Given the description of an element on the screen output the (x, y) to click on. 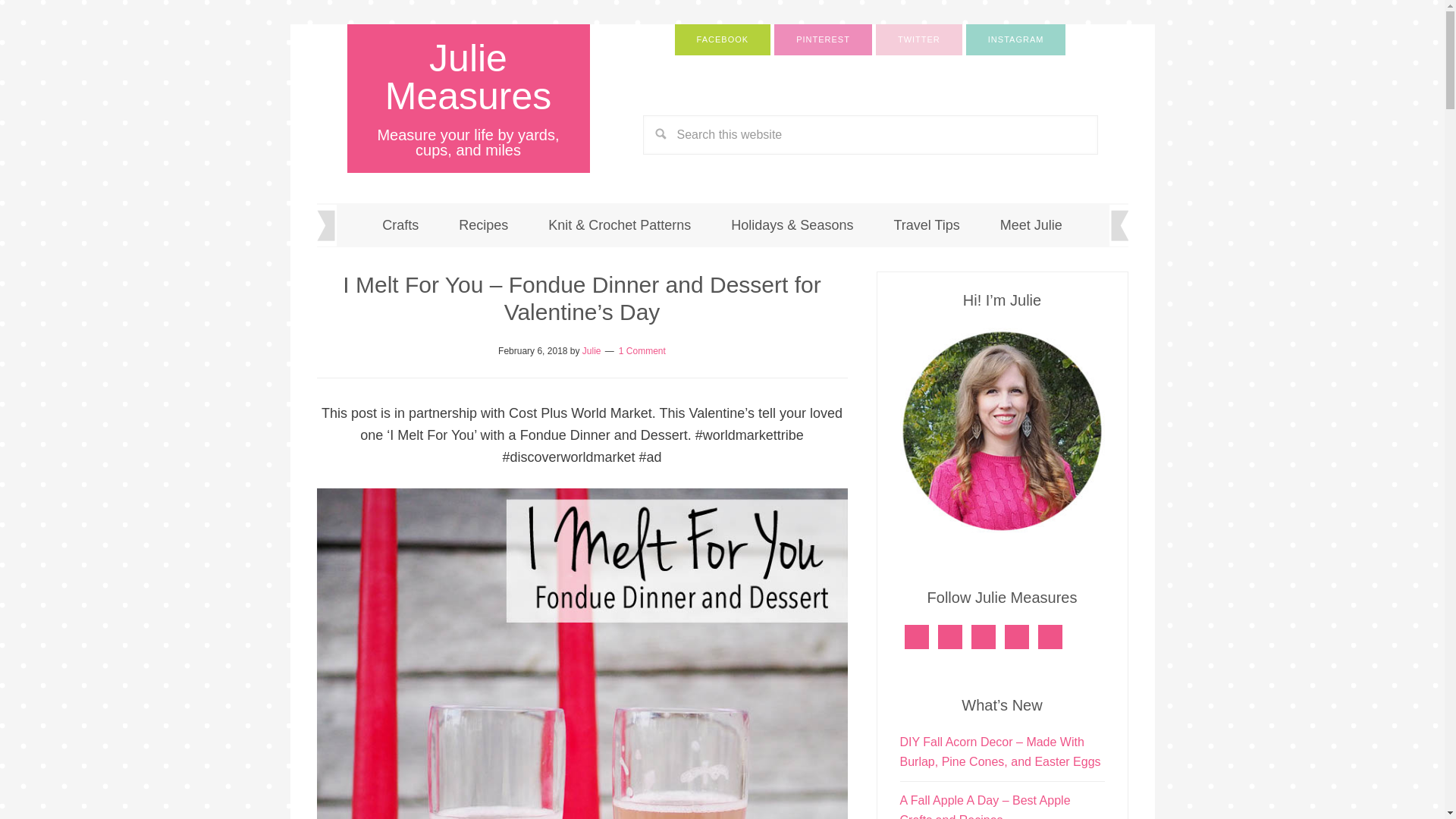
Julie (591, 350)
Meet Julie (1030, 225)
TWITTER (919, 39)
Recipes (483, 225)
Travel Tips (925, 225)
PINTEREST (823, 39)
INSTAGRAM (1015, 39)
